Given the description of an element on the screen output the (x, y) to click on. 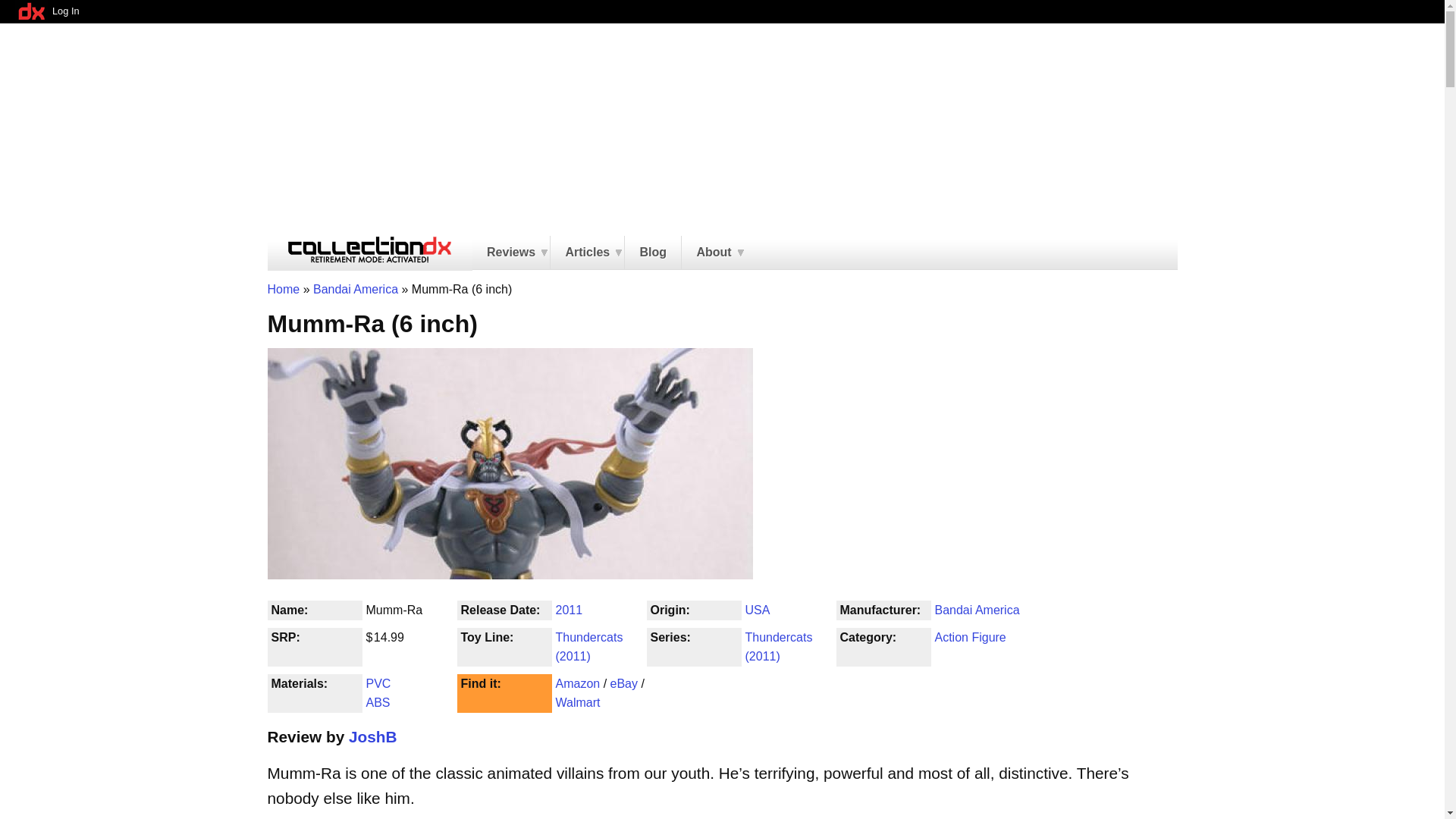
Bandai America (976, 609)
USA (757, 609)
Reviews (510, 252)
Home (282, 288)
Articles (587, 252)
Articles (587, 252)
Bandai America (355, 288)
About (713, 252)
Toy Reviews (510, 252)
Blog (652, 252)
Log In (65, 11)
2011 (568, 609)
